Given the description of an element on the screen output the (x, y) to click on. 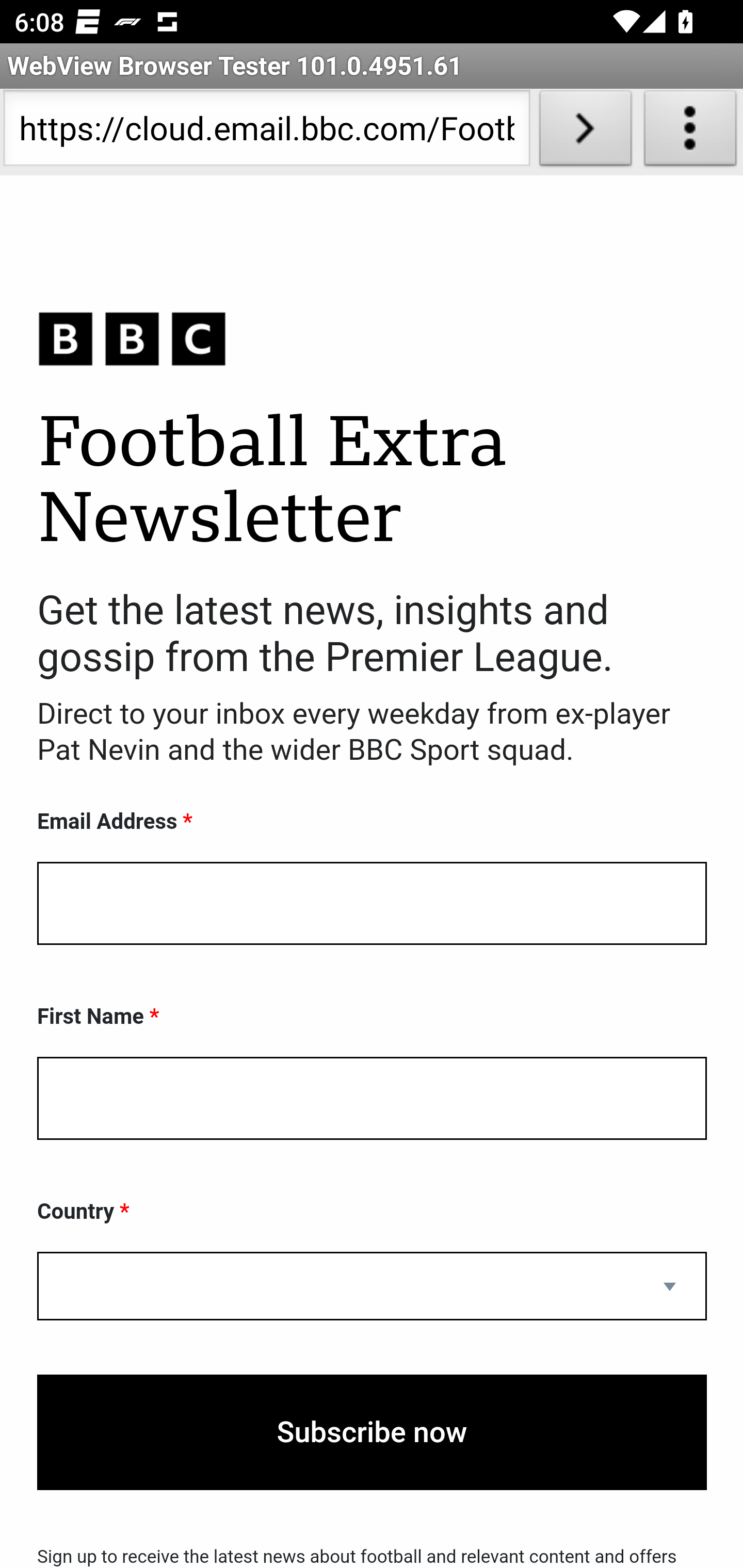
Load URL (585, 132)
About WebView (690, 132)
BBC (372, 338)
Subscribe now (372, 1432)
